Given the description of an element on the screen output the (x, y) to click on. 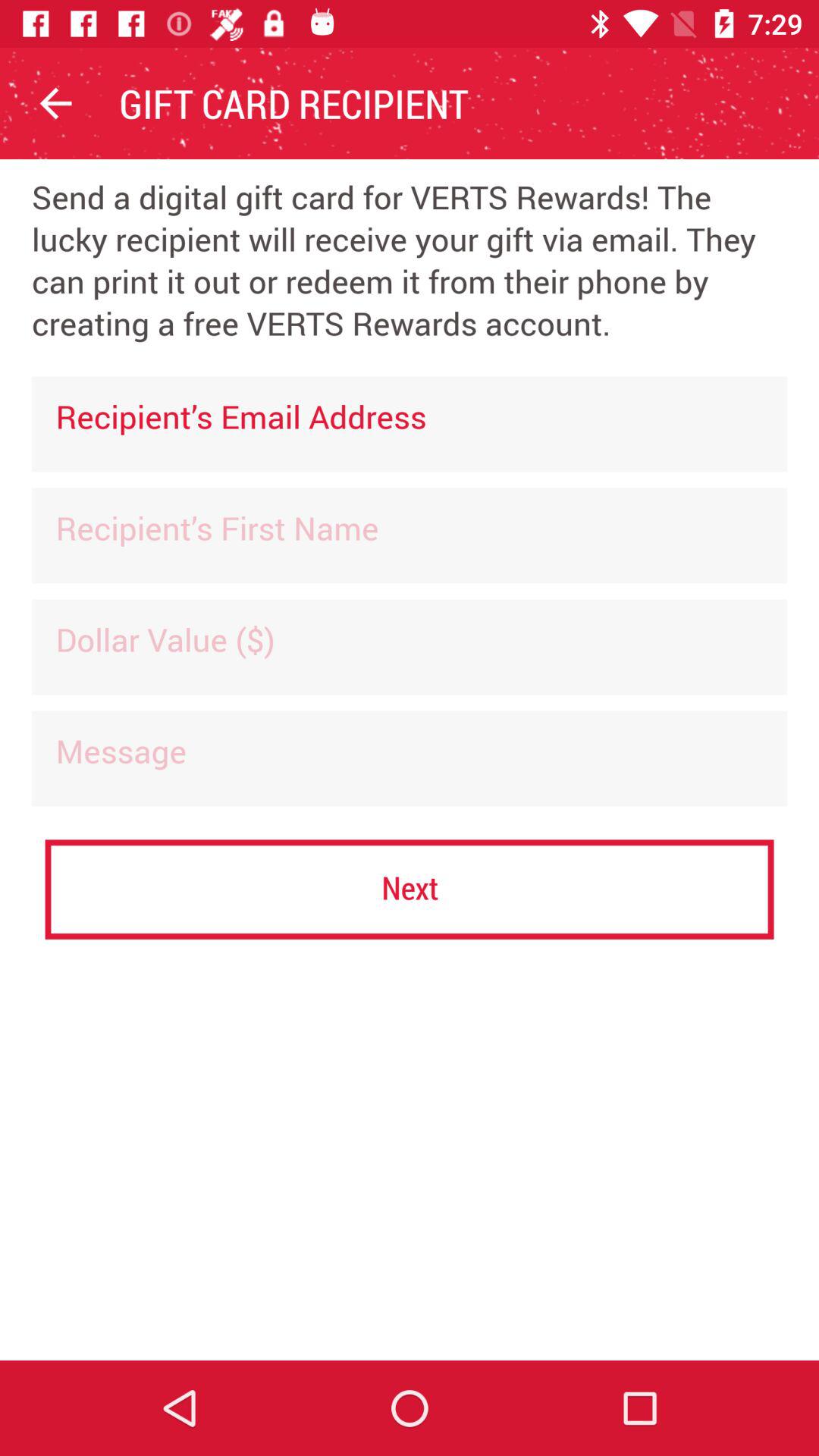
launch the icon at the top left corner (55, 103)
